Given the description of an element on the screen output the (x, y) to click on. 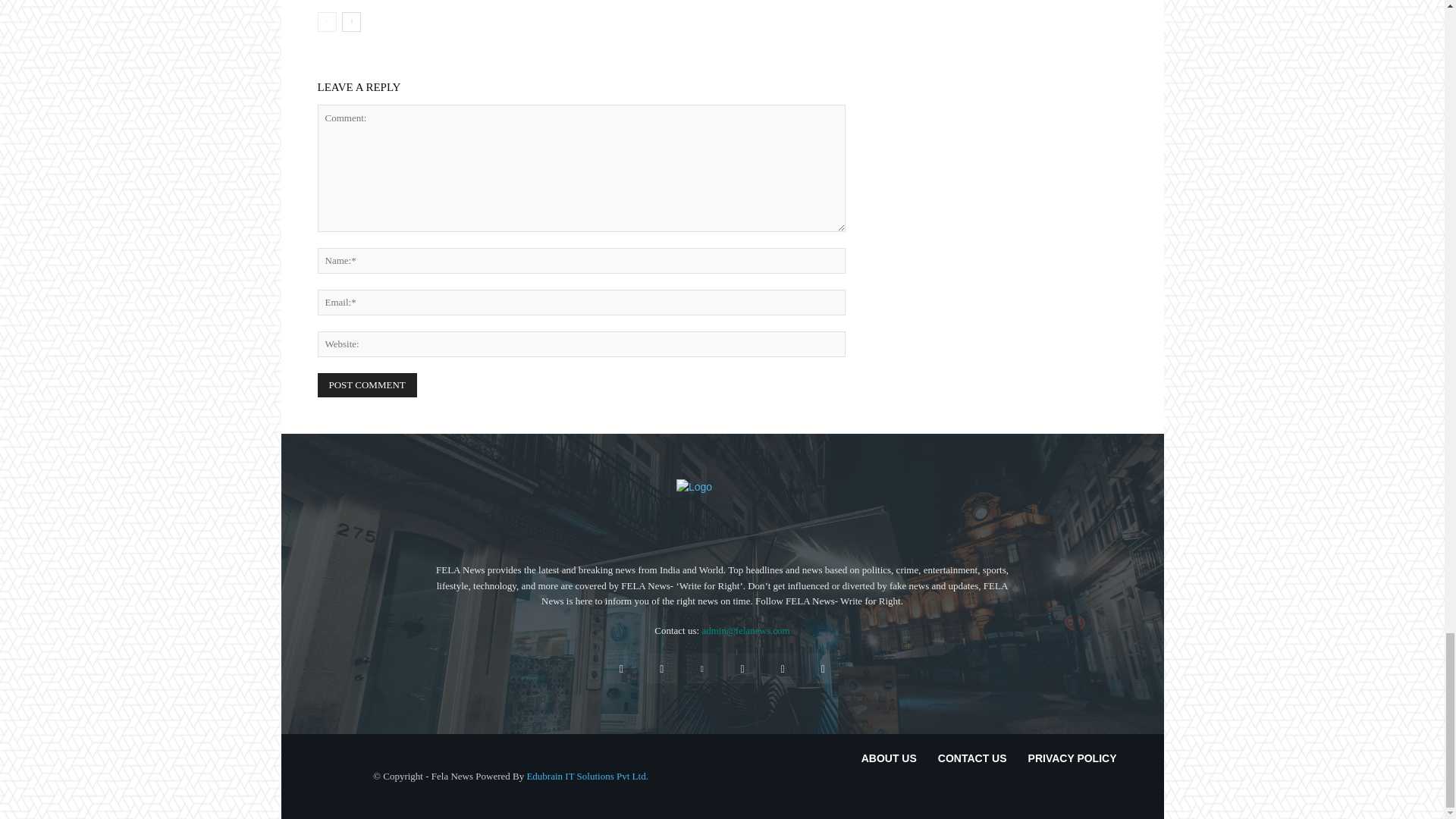
Post Comment (366, 385)
